Given the description of an element on the screen output the (x, y) to click on. 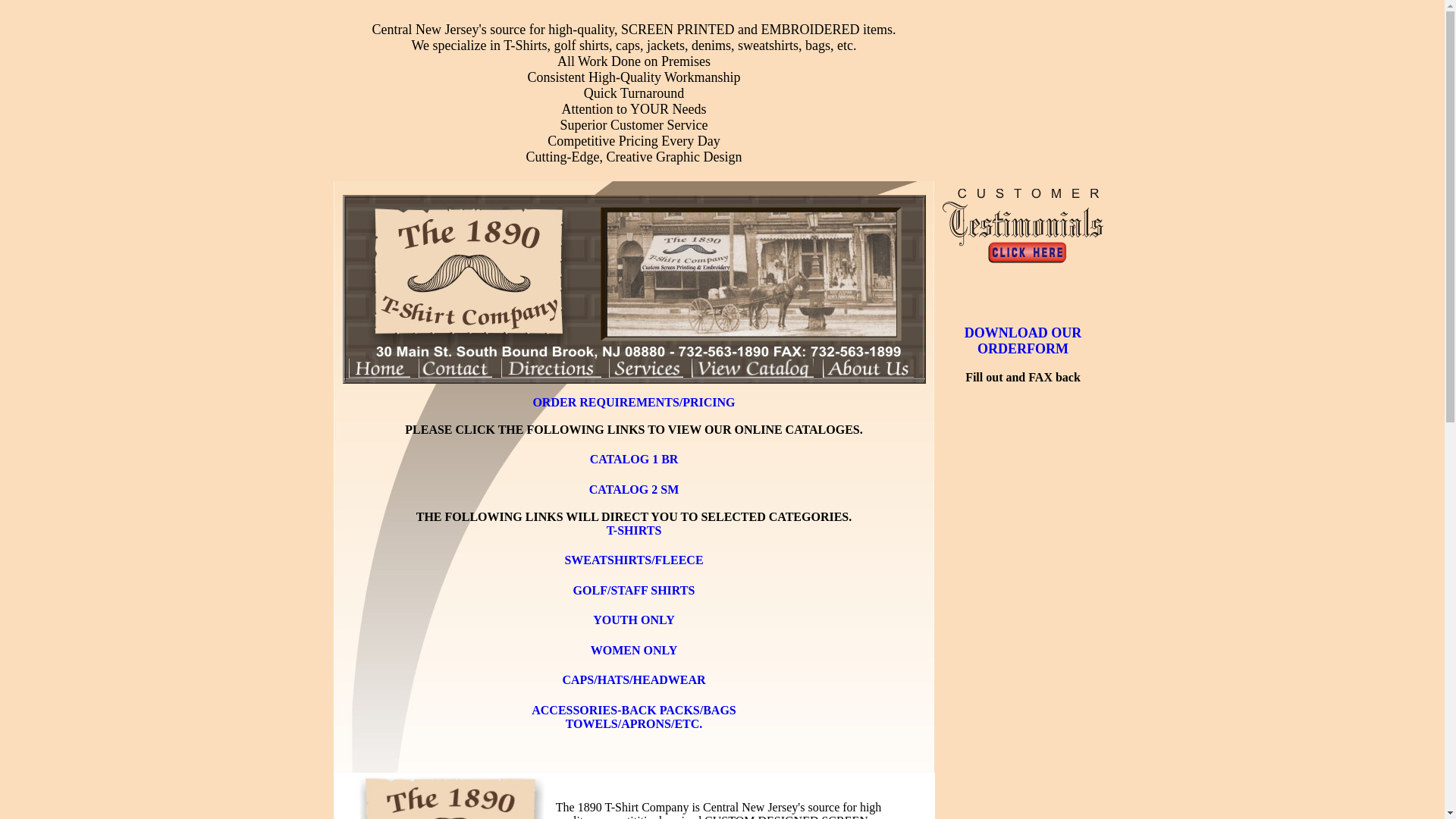
ORDER REQUIREMENTS/PRICING Element type: text (633, 401)
ORDERFORM Element type: text (1022, 348)
ACCESSORIES-BACK PACKS/BAGS
TOWELS/APRONS/ETC. Element type: text (633, 711)
GOLF/STAFF SHIRTS Element type: text (634, 585)
YOUTH ONLY Element type: text (633, 615)
SWEATSHIRTS/FLEECE Element type: text (633, 555)
CAPS/HATS/HEADWEAR Element type: text (633, 675)
WOMEN ONLY Element type: text (633, 645)
CATALOG 1 BR Element type: text (633, 454)
DOWNLOAD OUR Element type: text (1023, 332)
T-SHIRTS Element type: text (634, 525)
CATALOG 2 SM Element type: text (634, 491)
